Given the description of an element on the screen output the (x, y) to click on. 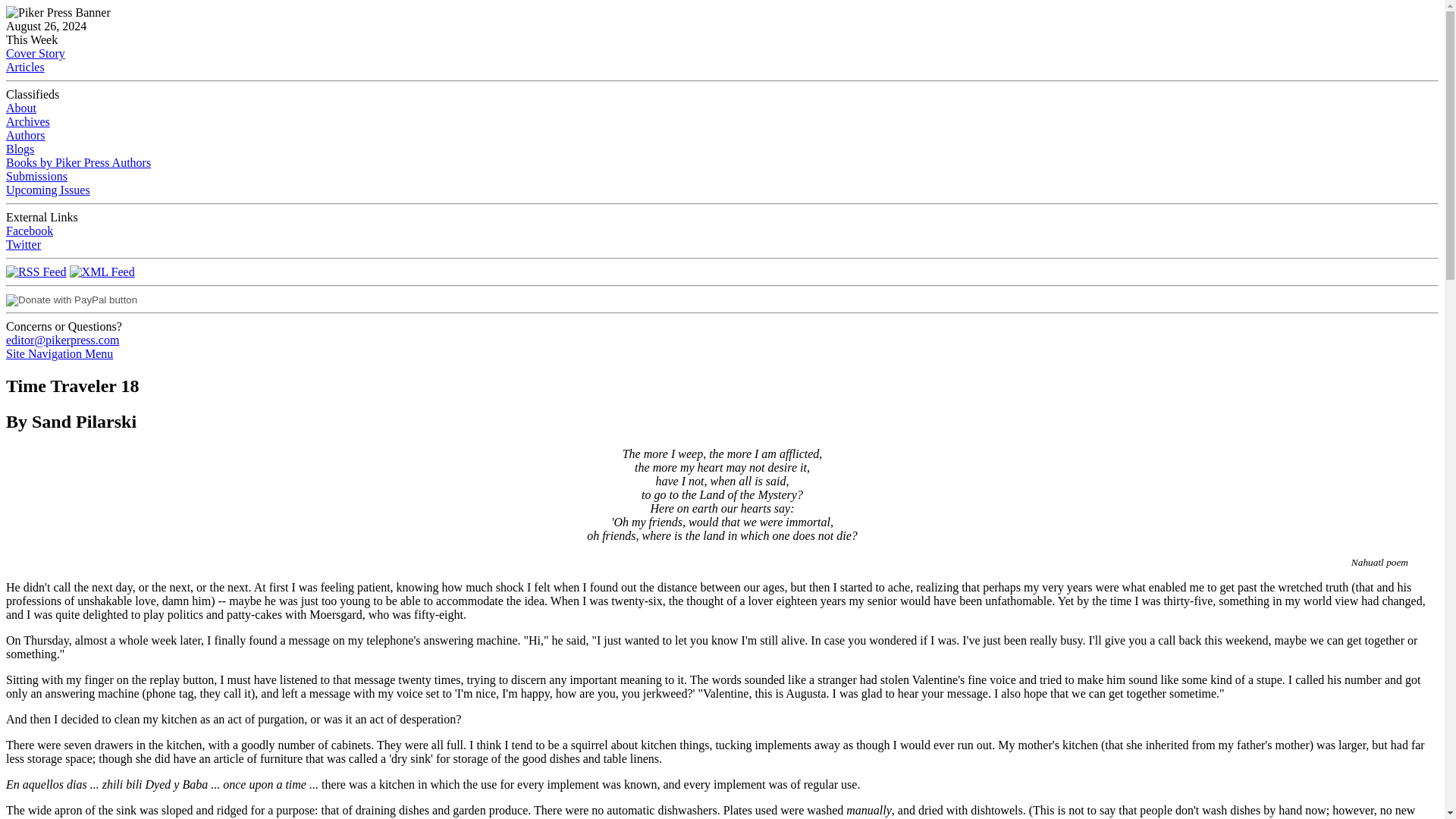
PayPal - The safer, easier way to pay online! (70, 300)
Books by Piker Press Authors (78, 162)
Cover Story (35, 52)
Authors (25, 134)
About (20, 107)
Facebook (28, 230)
Twitter (22, 244)
Upcoming Issues (47, 189)
Archives (27, 121)
Site Navigation Menu (59, 353)
